Given the description of an element on the screen output the (x, y) to click on. 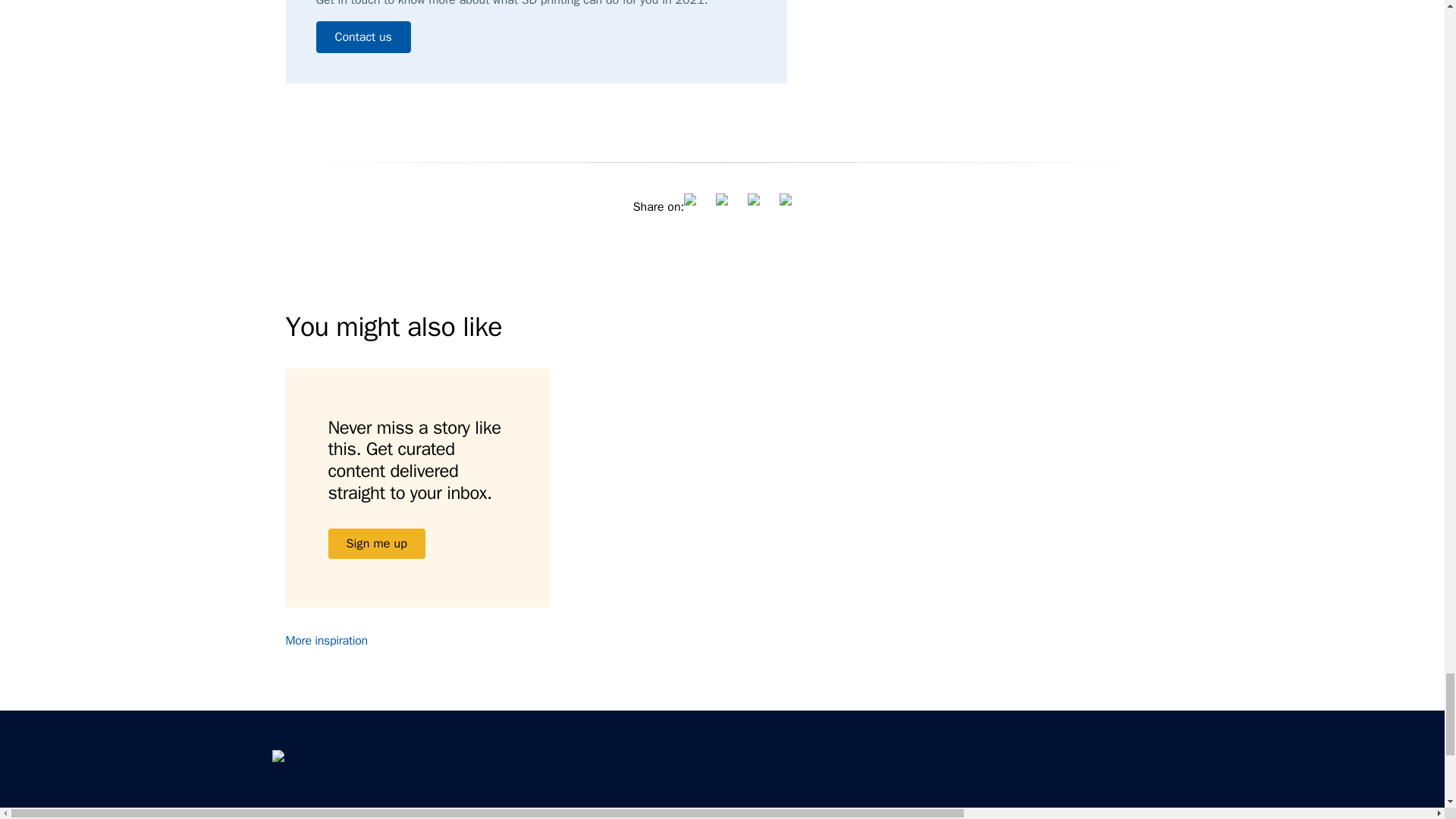
Contact us (362, 37)
More inspiration (335, 640)
Sign me up (376, 543)
